Given the description of an element on the screen output the (x, y) to click on. 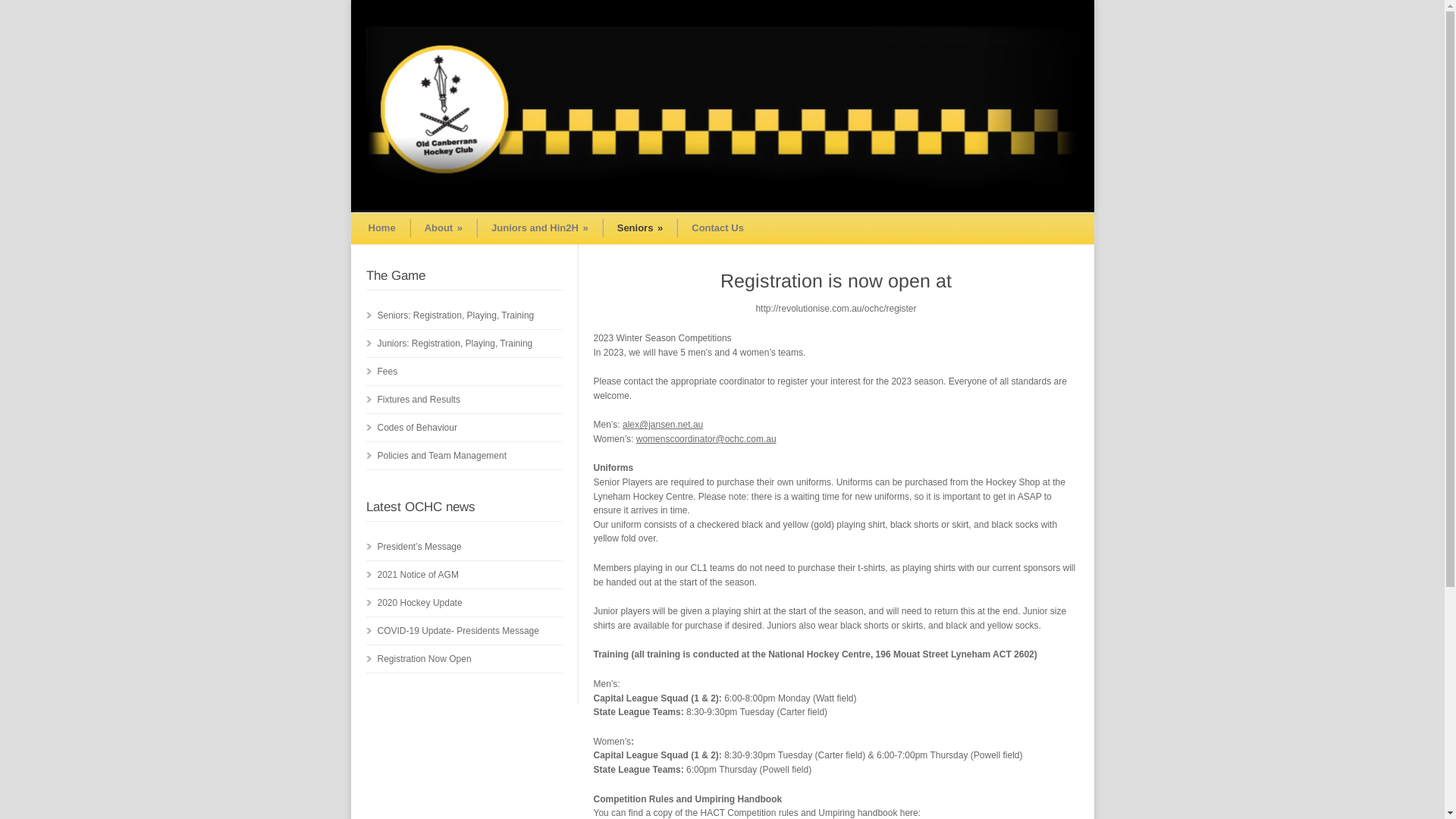
alex@jansen.net.au Element type: text (662, 424)
2020 Hockey Update Element type: text (419, 602)
Home Element type: text (382, 228)
Contact Us Element type: text (717, 228)
Policies and Team Management Element type: text (442, 455)
Seniors: Registration, Playing, Training Element type: text (455, 315)
womenscoordinator@ochc.com.au Element type: text (706, 438)
2021 Notice of AGM Element type: text (417, 574)
COVID-19 Update- Presidents Message Element type: text (458, 630)
Registration Now Open Element type: text (424, 658)
Codes of Behaviour Element type: text (417, 427)
Juniors: Registration, Playing, Training Element type: text (455, 343)
http://revolutionise.com.au/ochc/register Element type: text (835, 308)
Fixtures and Results Element type: text (418, 399)
Fees Element type: text (387, 371)
